Given the description of an element on the screen output the (x, y) to click on. 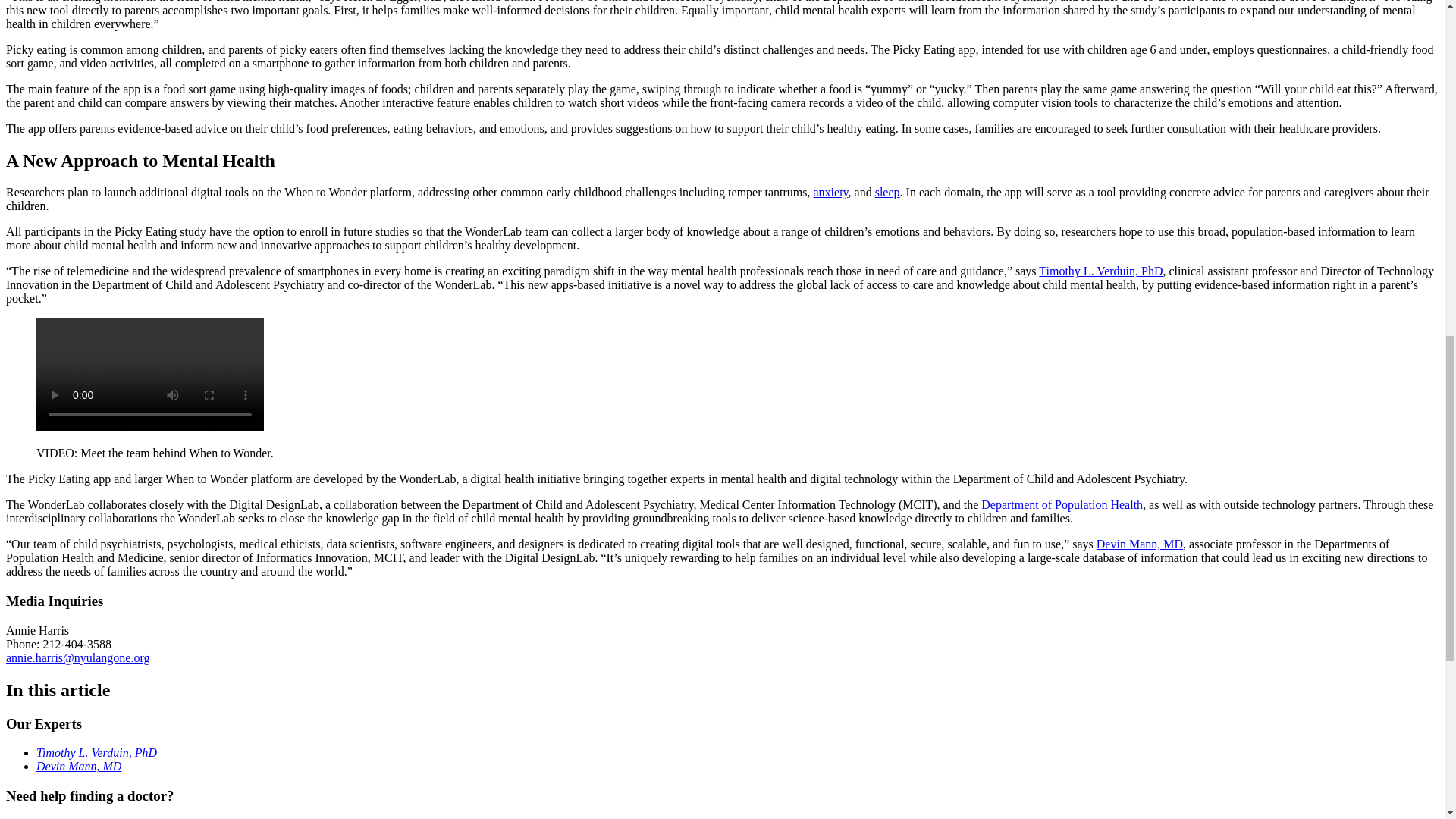
Timothy L. Verduin, PhD (96, 752)
Devin Mann, MD (78, 766)
sleep (887, 192)
anxiety (830, 192)
Timothy L. Verduin, PhD (1100, 270)
Devin Mann, MD (1139, 543)
Department of Population Health (1061, 504)
